Given the description of an element on the screen output the (x, y) to click on. 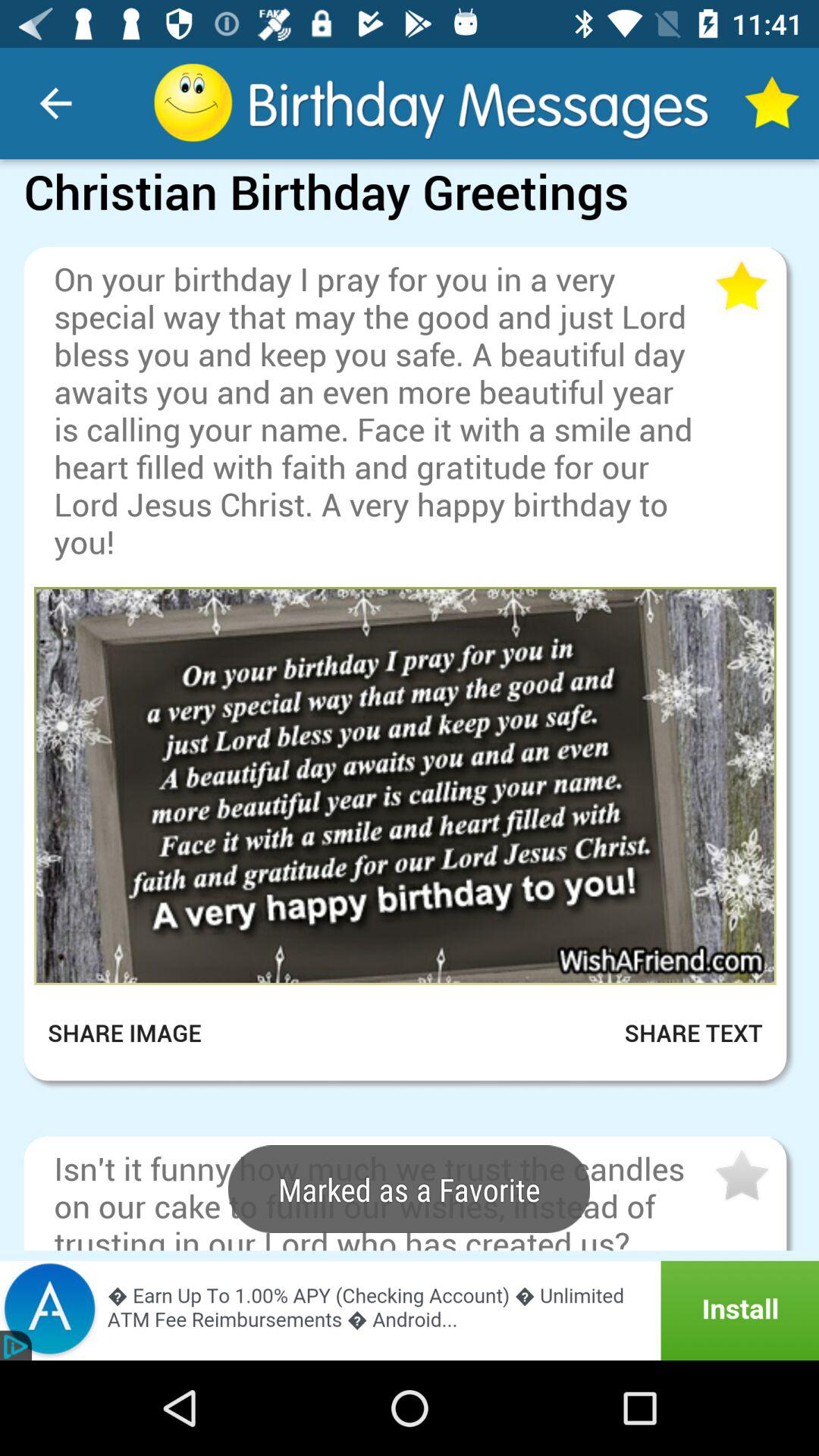
select item at the bottom left corner (134, 1032)
